Given the description of an element on the screen output the (x, y) to click on. 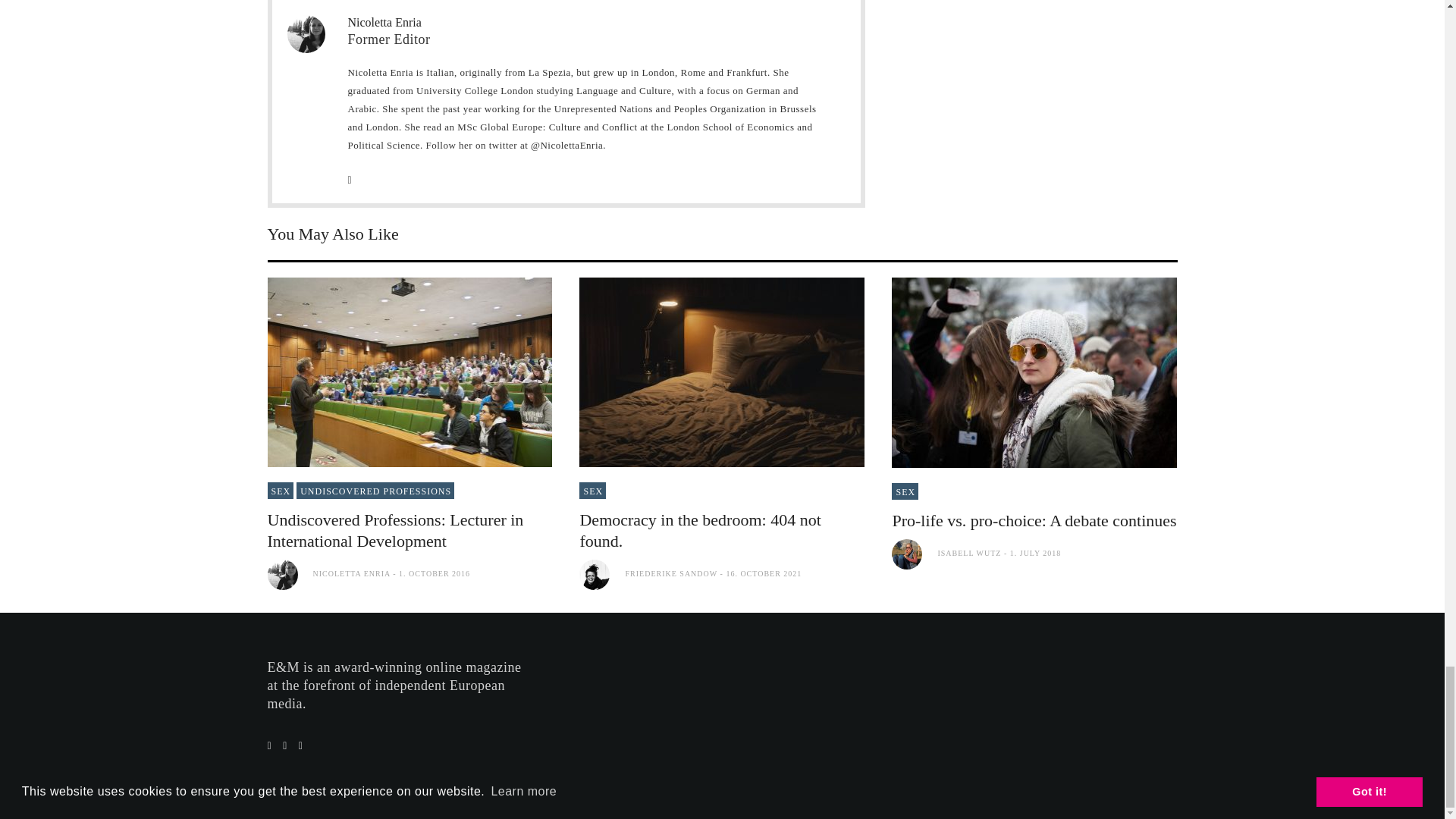
View all posts in 5463 (592, 490)
View all posts in 5463 (904, 491)
View all posts in 6361 (375, 490)
View all posts in 5463 (280, 490)
